Given the description of an element on the screen output the (x, y) to click on. 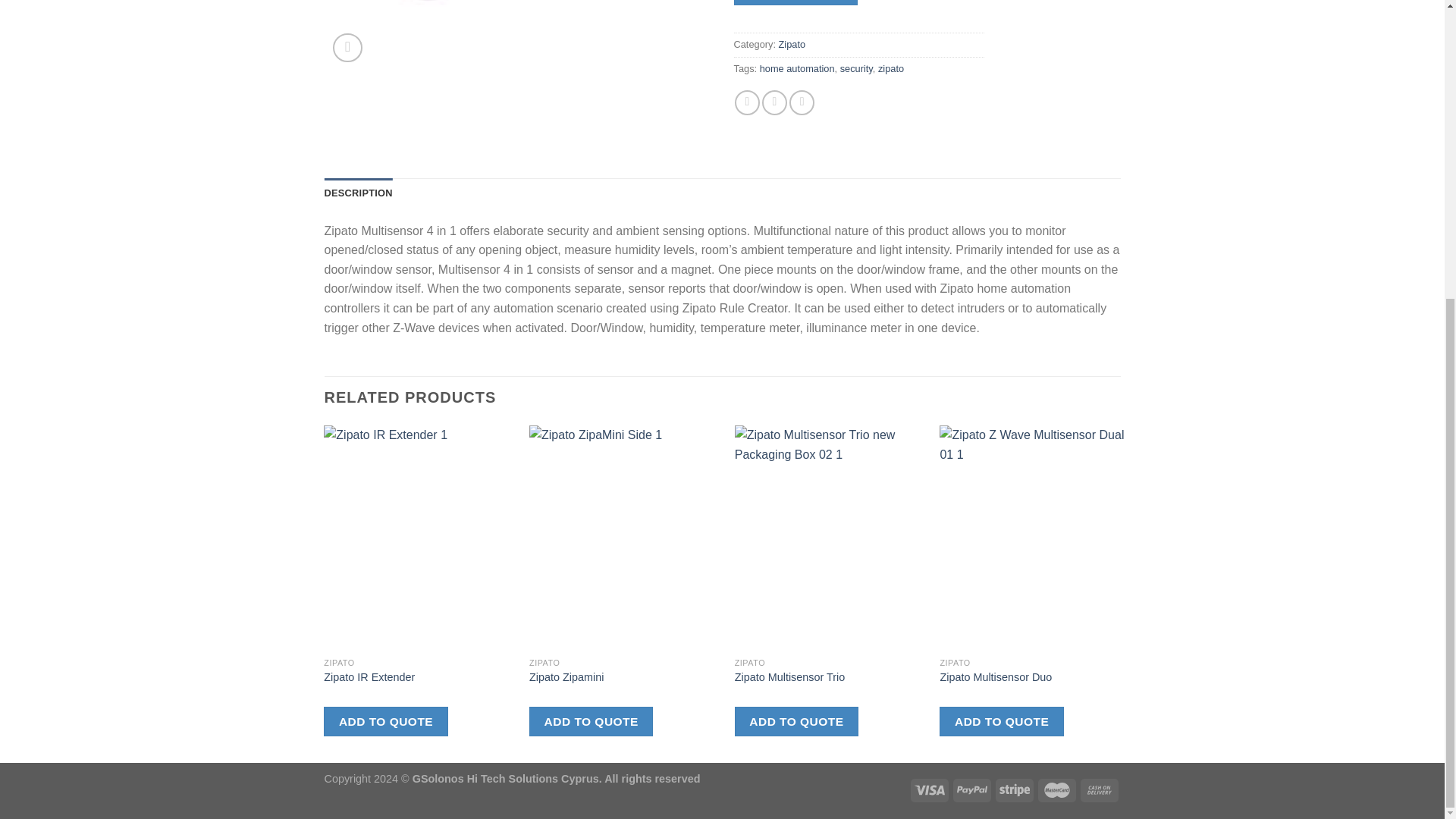
Share on Twitter (774, 102)
Share on Facebook (747, 102)
ZPVSZD2201US full 2 (517, 34)
Email to a Friend (801, 102)
Zoom (347, 48)
